Given the description of an element on the screen output the (x, y) to click on. 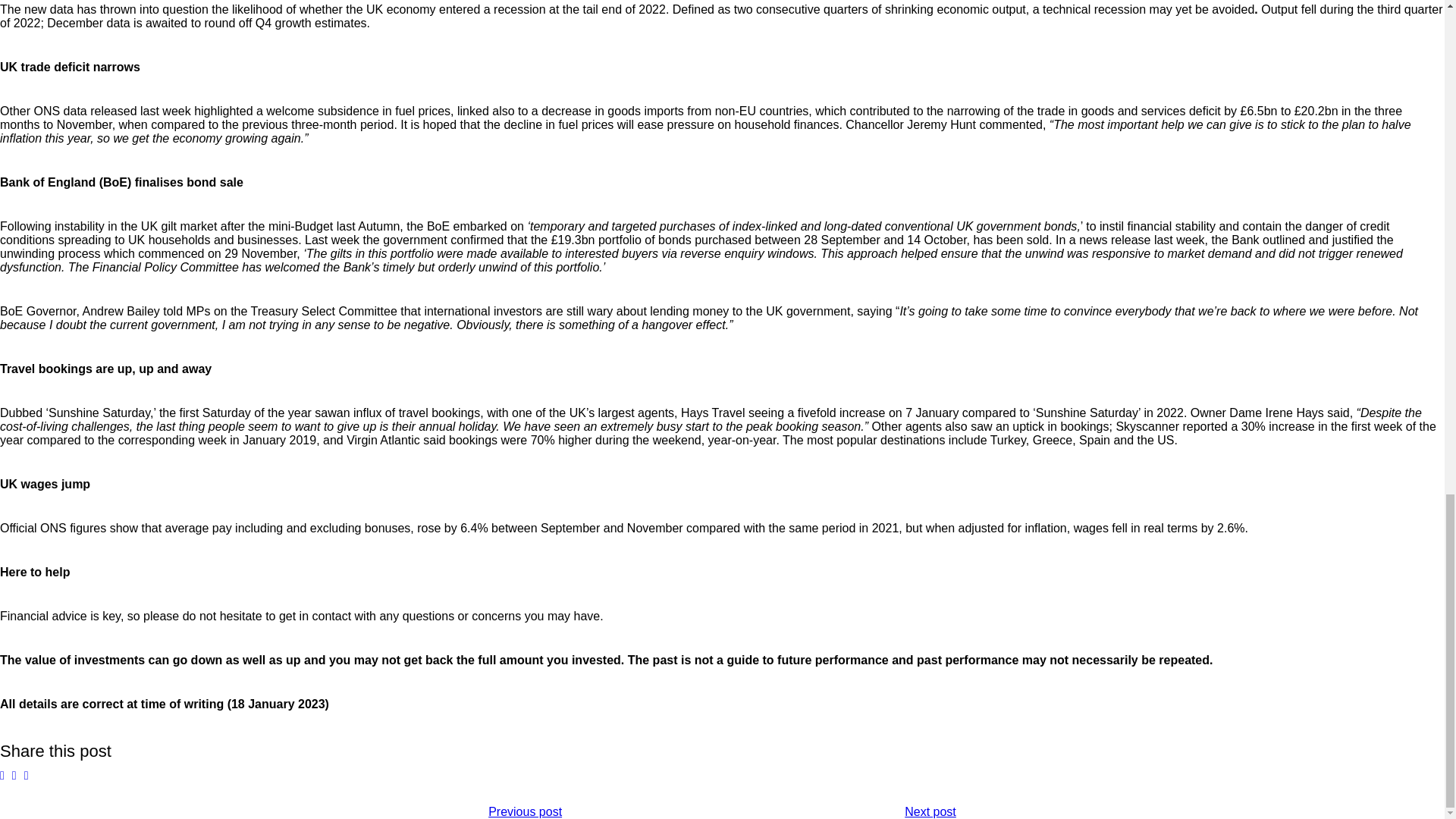
Previous post (524, 811)
Next post (930, 811)
